Given the description of an element on the screen output the (x, y) to click on. 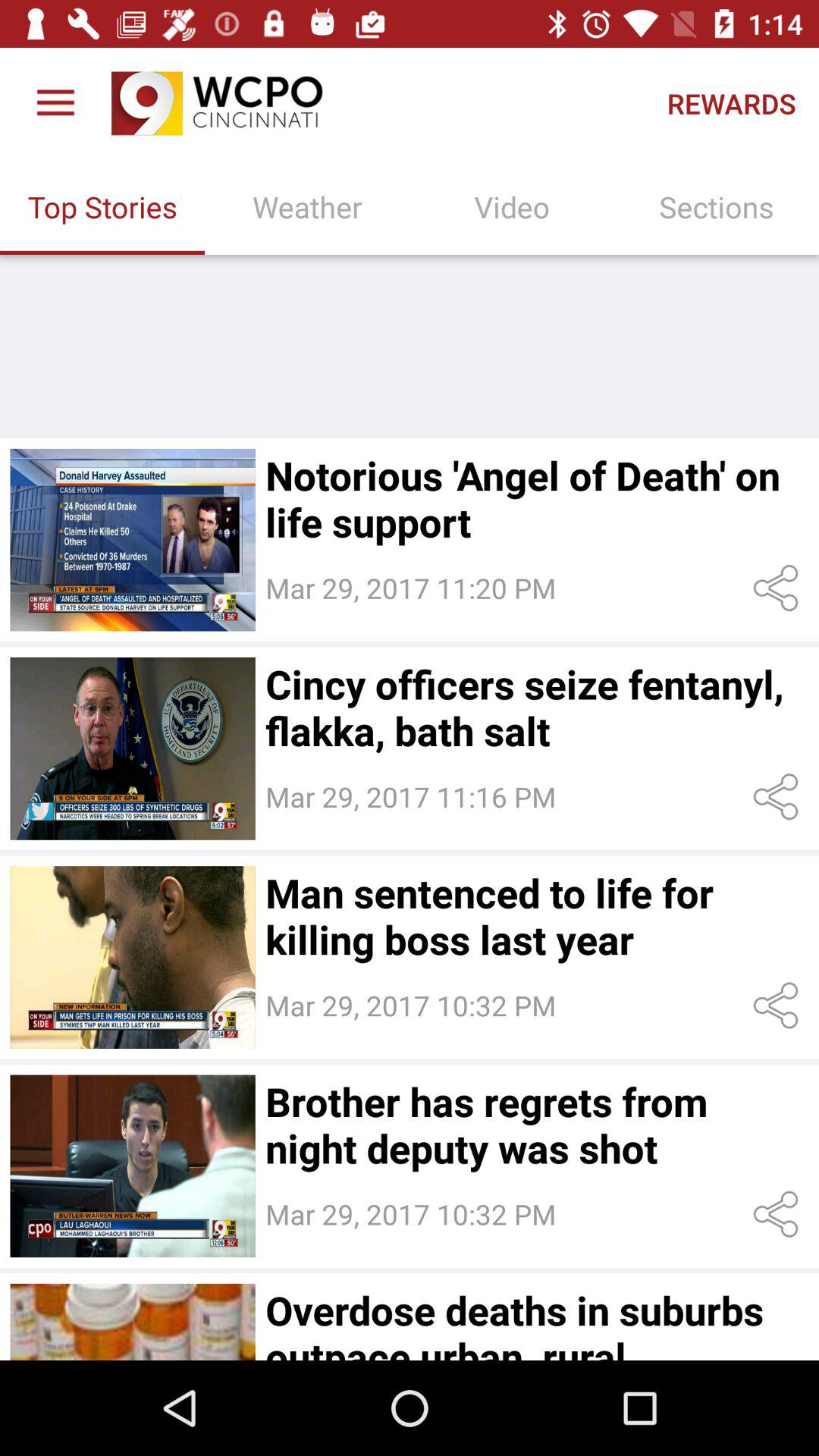
open article (132, 957)
